Given the description of an element on the screen output the (x, y) to click on. 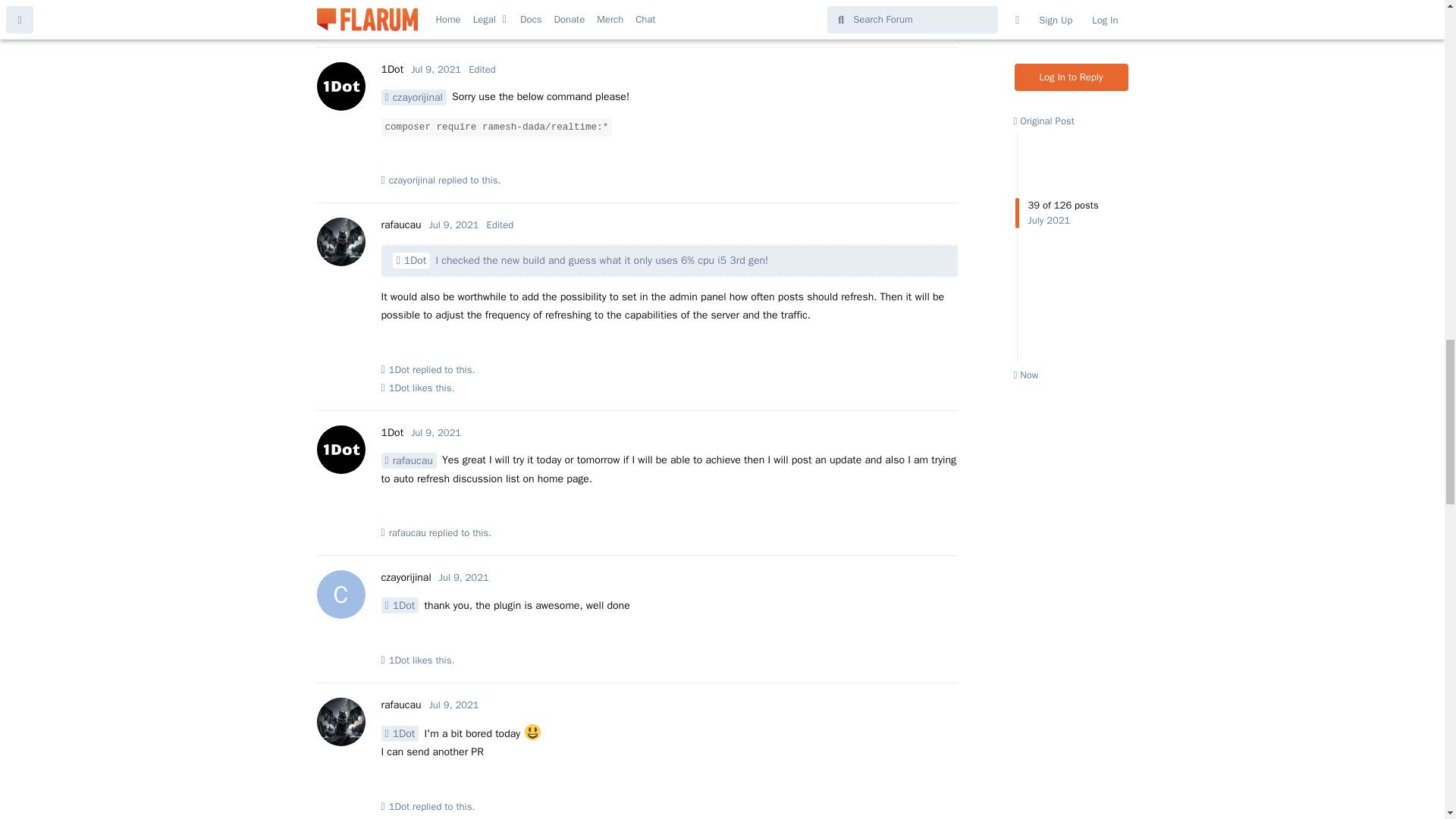
Friday, July 9, 2021 4:31 PM (435, 431)
Friday, July 9, 2021 4:29 PM (454, 224)
Friday, July 9, 2021 4:31 PM (464, 576)
Friday, July 9, 2021 4:14 PM (435, 69)
Friday, July 9, 2021 4:32 PM (454, 704)
